Given the description of an element on the screen output the (x, y) to click on. 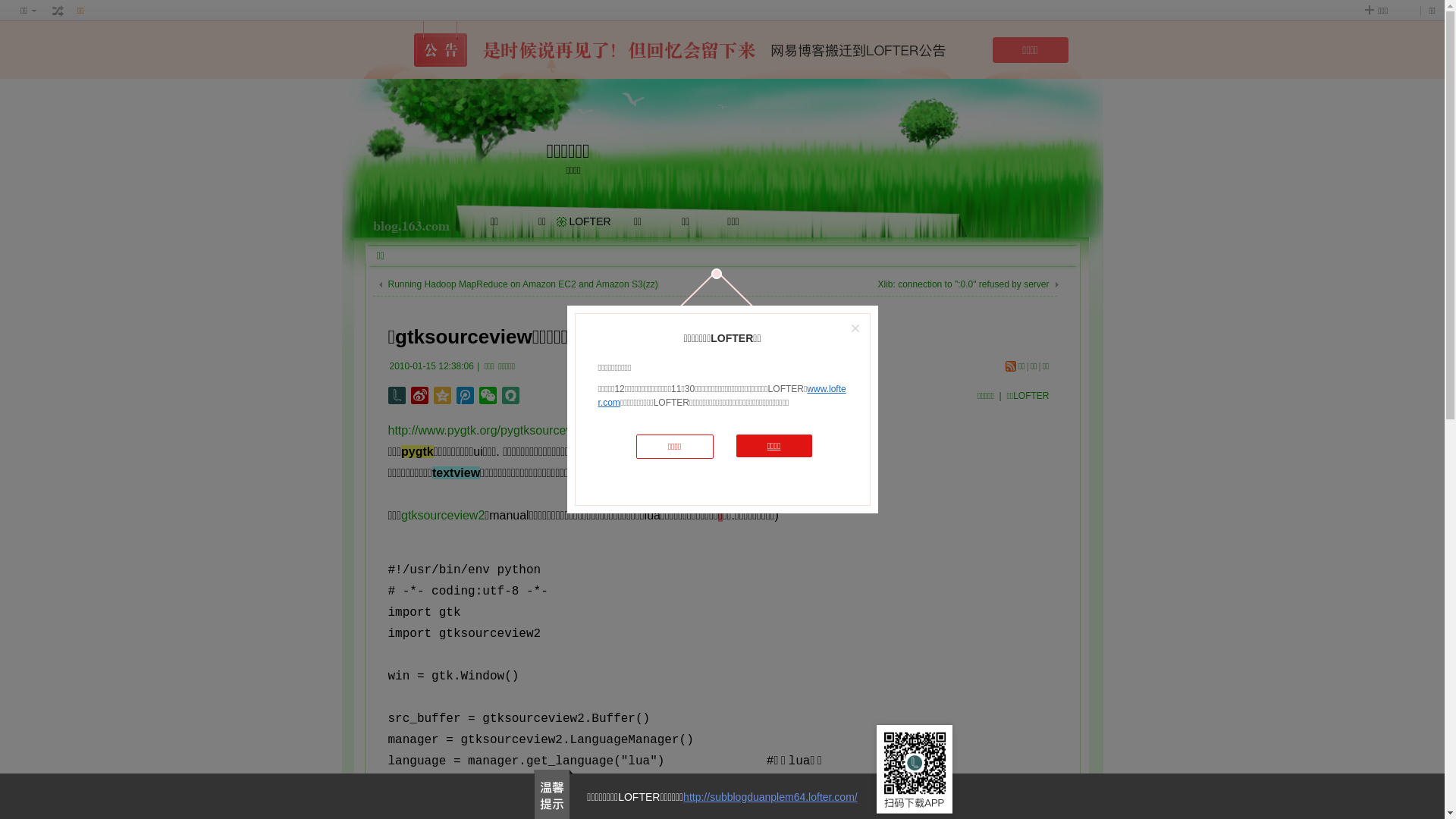
http://subblogduanplem64.lofter.com/ Element type: text (770, 796)
LOFTER Element type: text (589, 221)
http://www.pygtk.org/pygtksourceview/index.html Element type: text (518, 429)
  Element type: text (58, 10)
Running Hadoop MapReduce on Amazon EC2 and Amazon S3(zz) Element type: text (523, 284)
Xlib: connection to ":0.0" refused by server Element type: text (963, 284)
www.lofter.com Element type: text (721, 395)
gtksourceview2 Element type: text (442, 514)
